Given the description of an element on the screen output the (x, y) to click on. 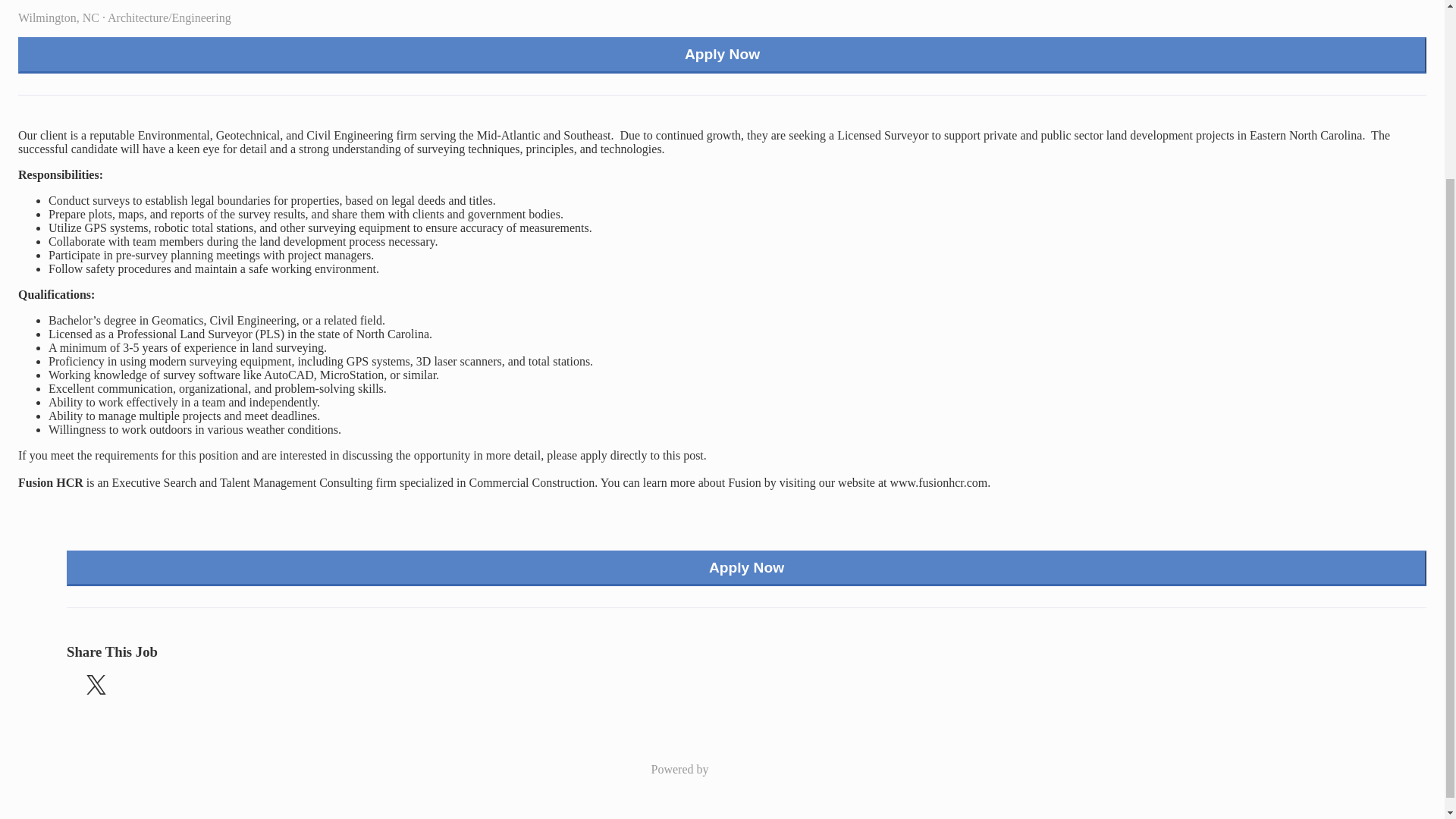
Apply Now (746, 568)
Apply Now (721, 54)
